Given the description of an element on the screen output the (x, y) to click on. 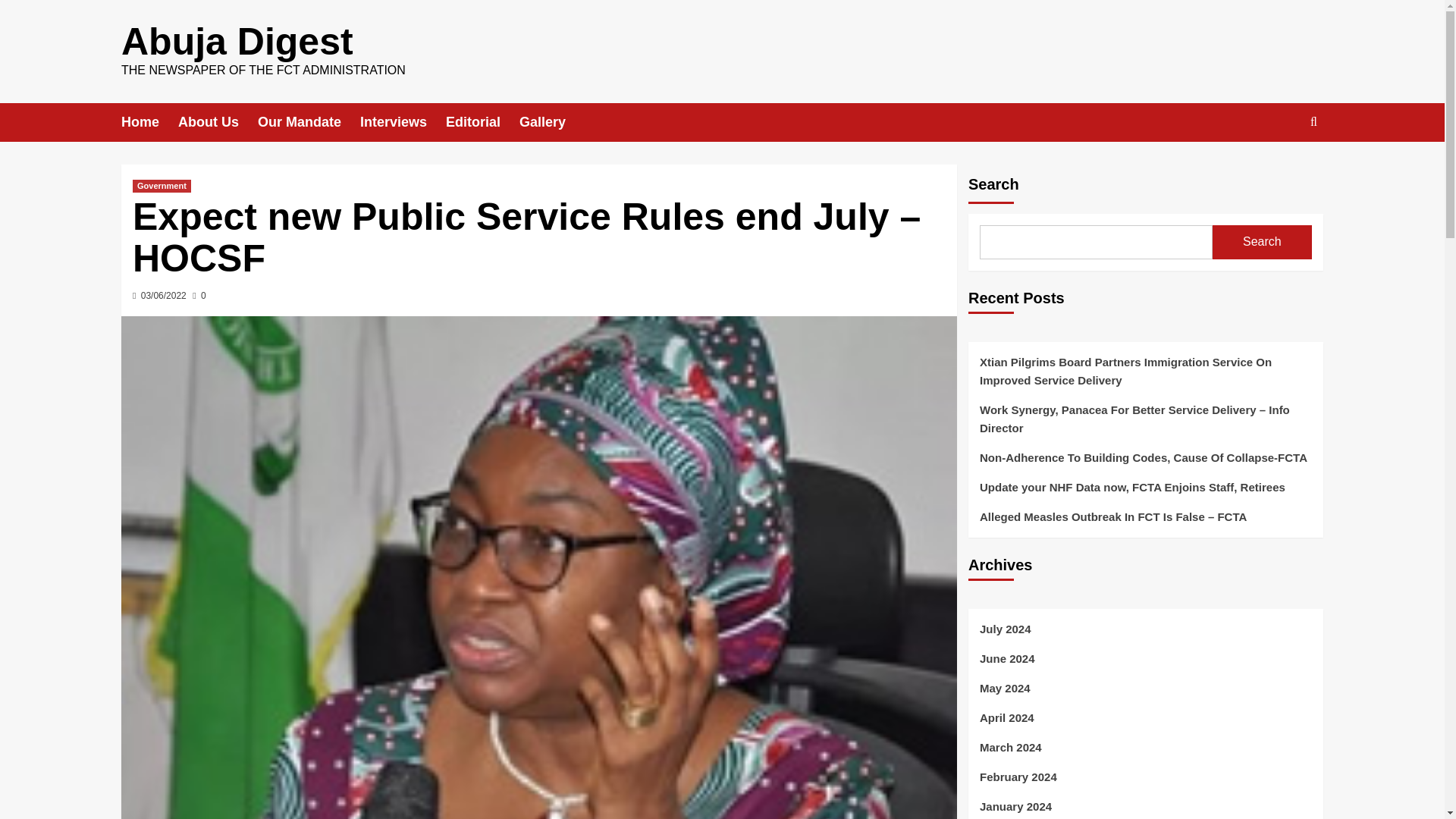
Non-Adherence To Building Codes, Cause Of Collapse-FCTA (1145, 463)
Update your NHF Data now, FCTA Enjoins Staff, Retirees (1145, 492)
Search (1261, 242)
Gallery (552, 122)
0 (198, 295)
Our Mandate (308, 122)
Home (148, 122)
Government (161, 185)
Interviews (402, 122)
June 2024 (1145, 664)
July 2024 (1145, 634)
About Us (217, 122)
Editorial (482, 122)
Abuja Digest (236, 41)
